Given the description of an element on the screen output the (x, y) to click on. 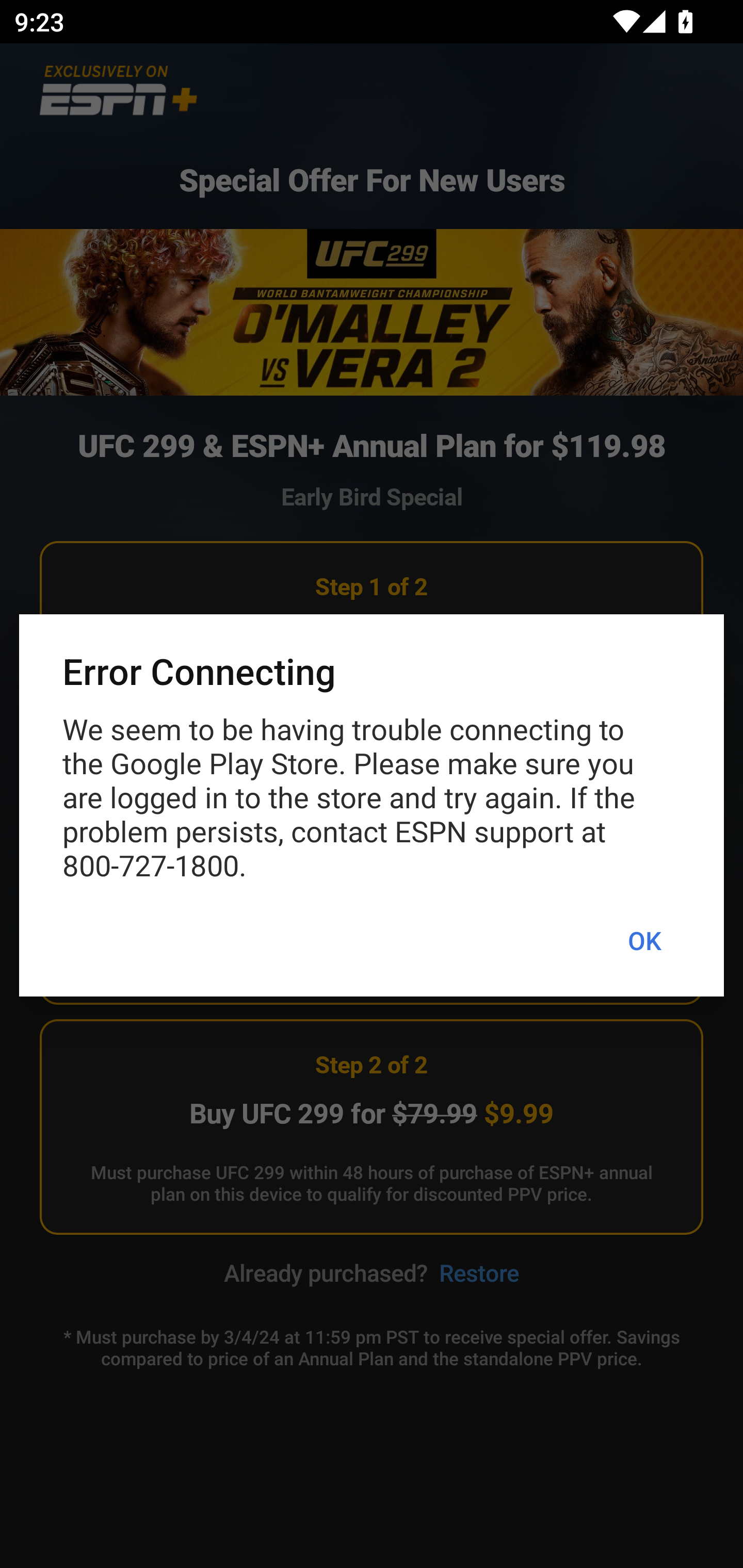
OK (644, 940)
